Given the description of an element on the screen output the (x, y) to click on. 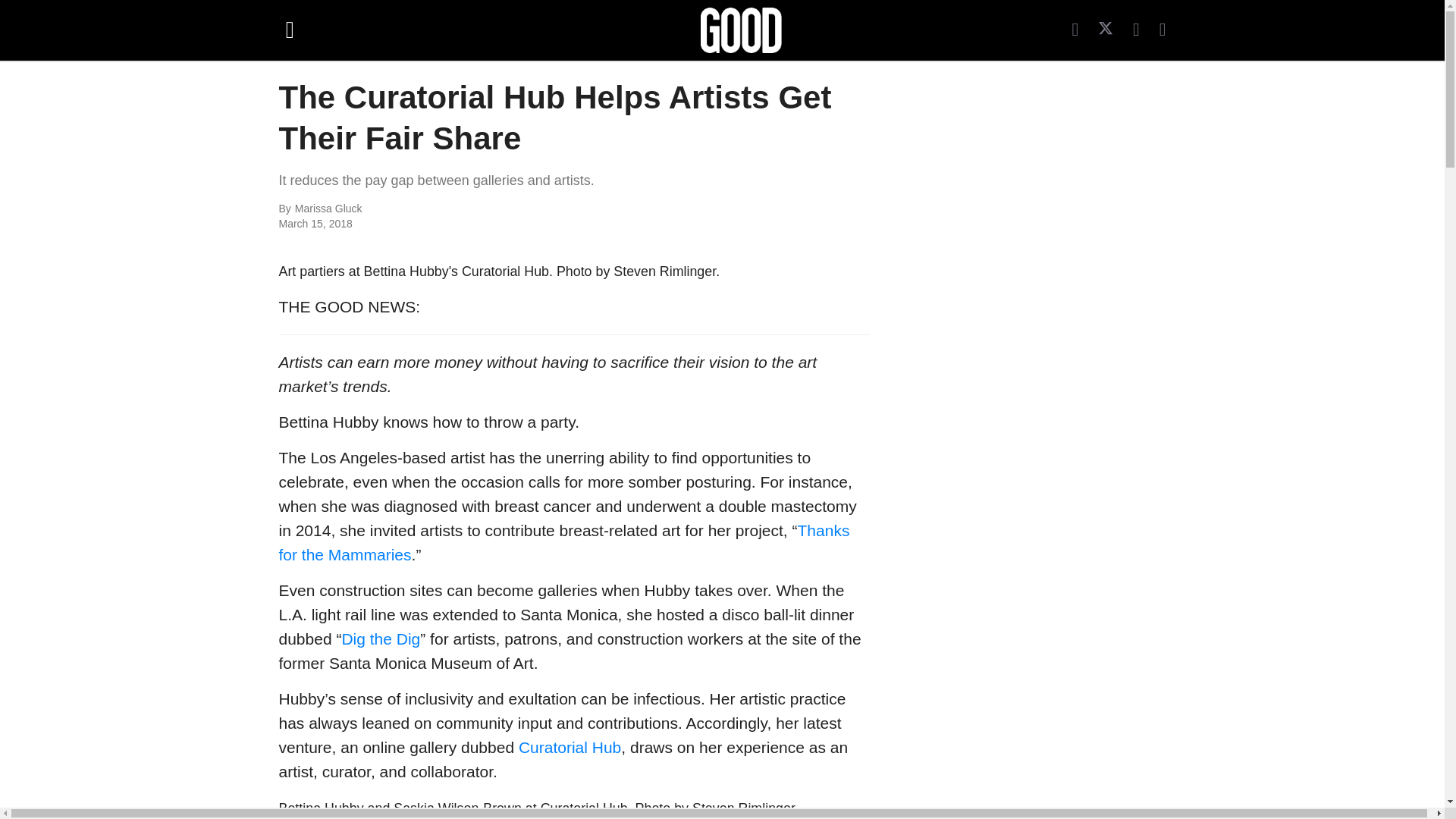
Dig the Dig (380, 638)
Thanks for the Mammaries (564, 542)
Curatorial Hub (569, 746)
Marissa Gluck (459, 209)
